Given the description of an element on the screen output the (x, y) to click on. 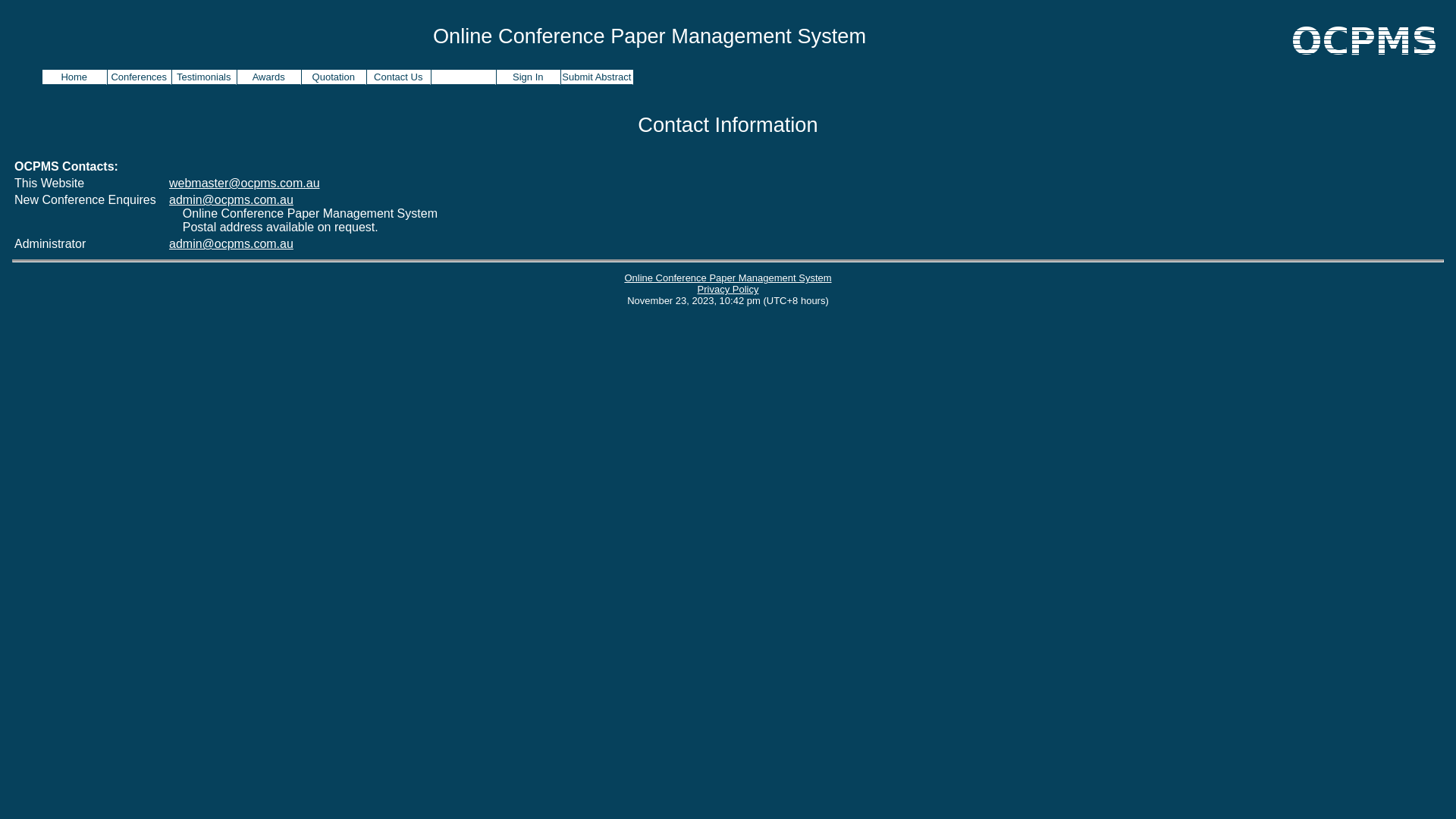
Submit Abstract Element type: text (597, 76)
Awards Element type: text (268, 76)
Conferences Element type: text (139, 76)
Quotation Element type: text (333, 76)
admin@ocpms.com.au Element type: text (231, 243)
admin@ocpms.com.au Element type: text (231, 199)
Sign In Element type: text (527, 76)
Online Conference Paper Management System Element type: text (727, 277)
Privacy Policy Element type: text (728, 288)
Contact Us Element type: text (399, 76)
Home Element type: text (74, 76)
  Element type: text (463, 76)
webmaster@ocpms.com.au Element type: text (244, 182)
Testimonials Element type: text (204, 76)
